Given the description of an element on the screen output the (x, y) to click on. 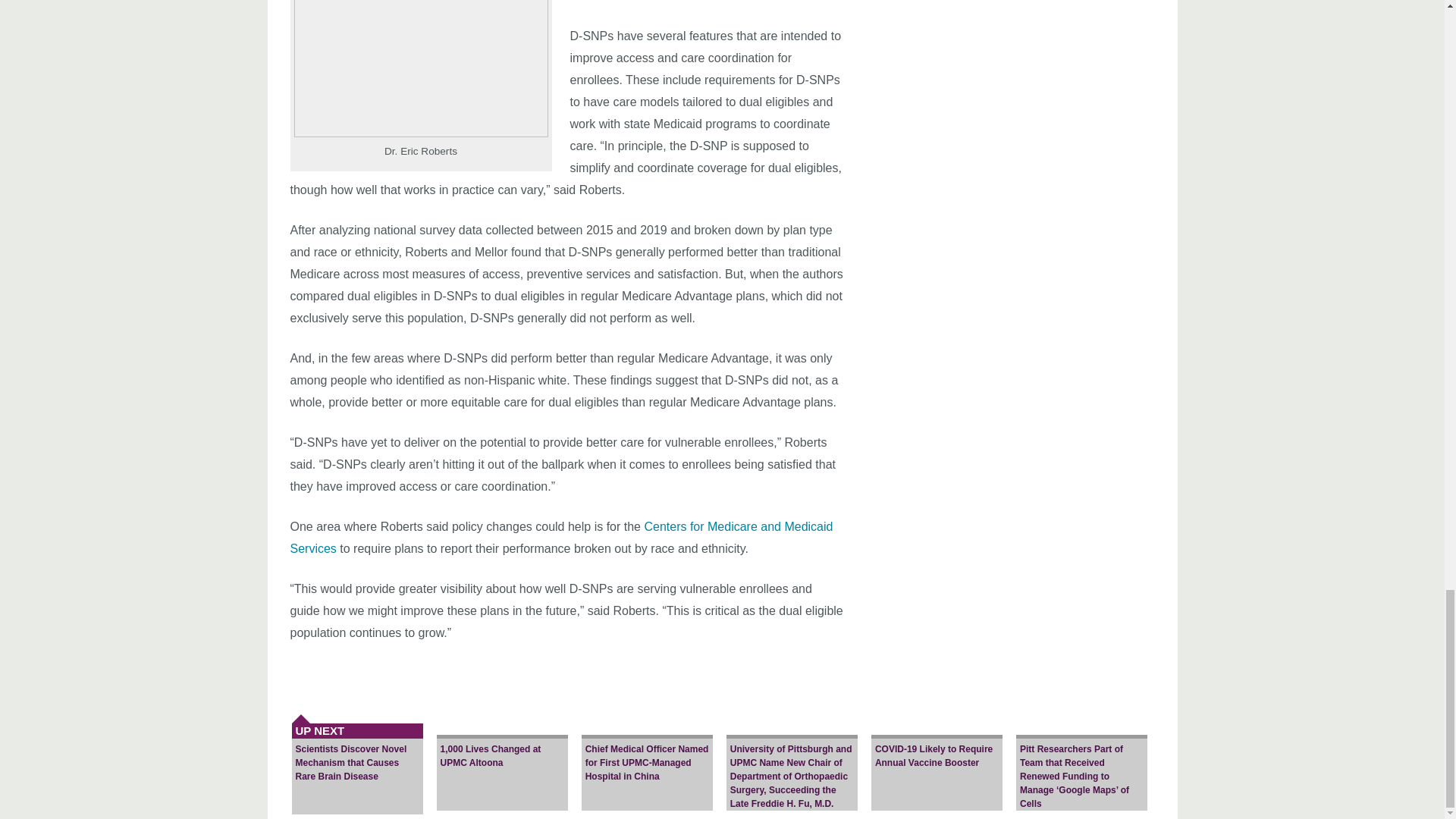
Share on LinkedIn (548, 673)
Share on Facebook (475, 673)
Centers for Medicare and Medicaid Services (560, 537)
Forward via email (621, 673)
Share on Pinterest (584, 673)
Copy to clipboard (657, 673)
